Given the description of an element on the screen output the (x, y) to click on. 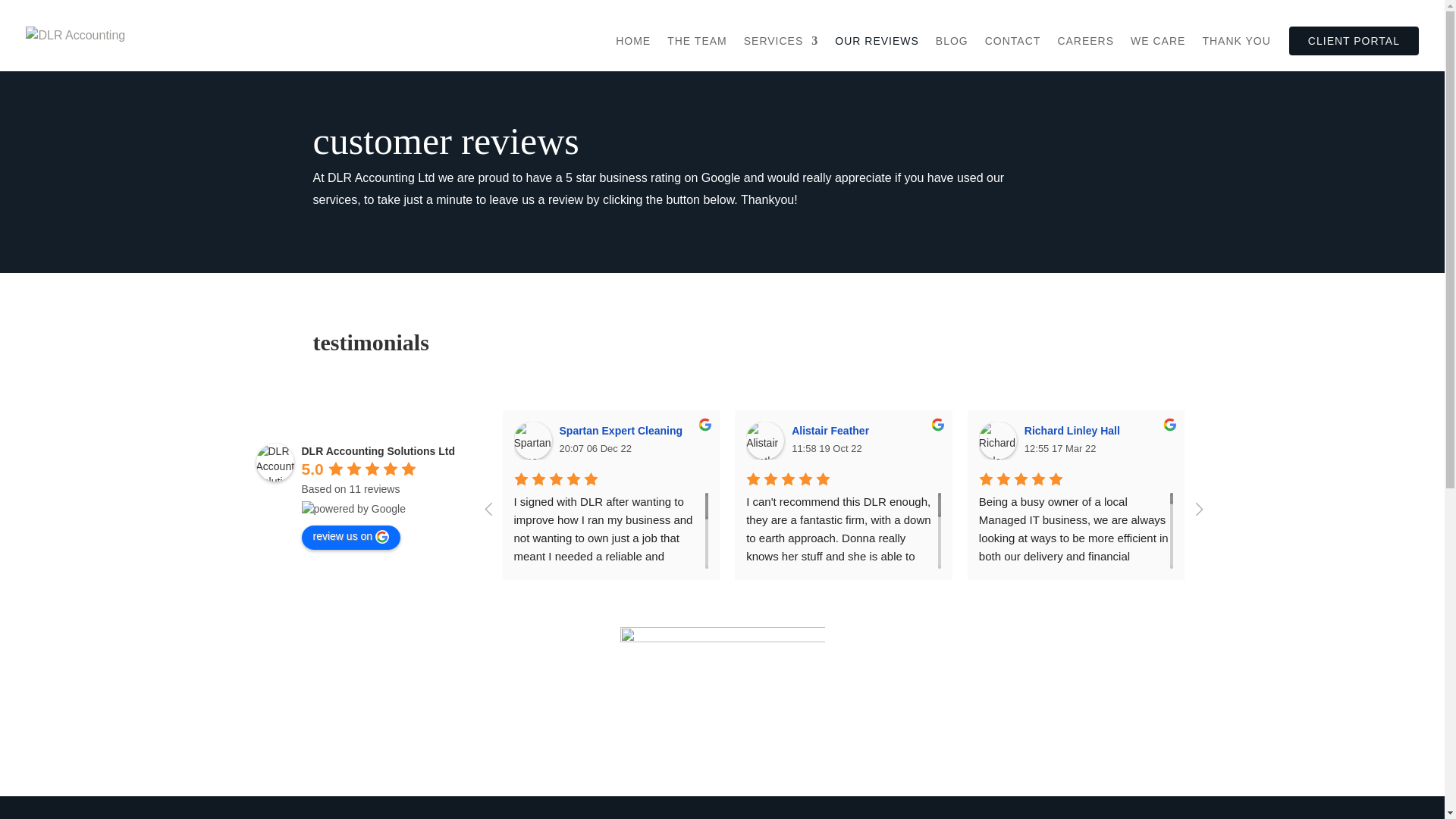
review us on (351, 537)
Jean Sutcliffe (1293, 430)
BLOG (952, 53)
WE CARE (1158, 53)
Richard Linley Hall (1074, 430)
CAREERS (1085, 53)
Alistair Feather (832, 430)
THE TEAM (696, 53)
DLR Accounting Solutions Ltd (275, 462)
CLIENT PORTAL (1353, 40)
